Given the description of an element on the screen output the (x, y) to click on. 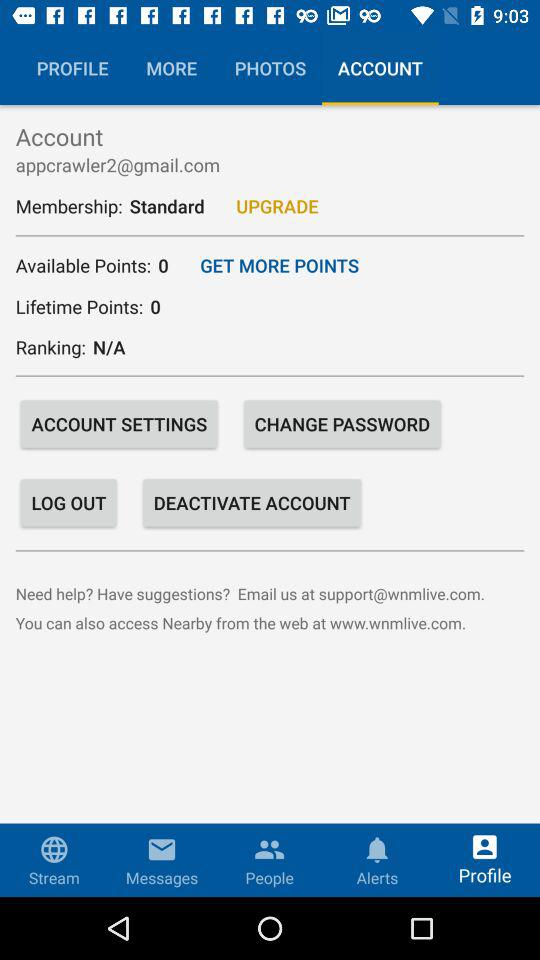
click the icon next to change password (119, 423)
